Given the description of an element on the screen output the (x, y) to click on. 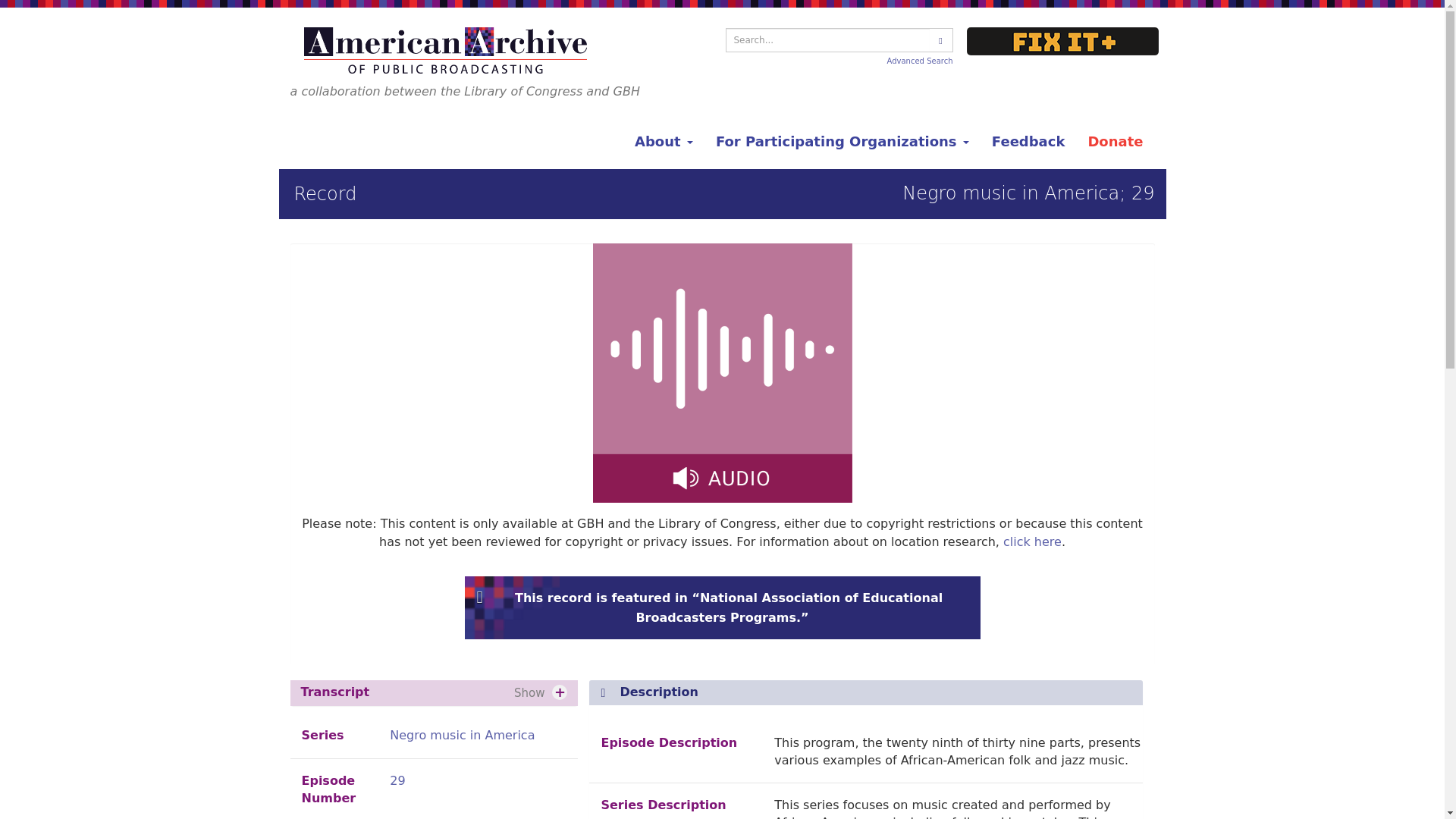
FIX IT: A TRANSCRIPT GAME (1062, 41)
Donate (1114, 141)
Feedback (1028, 141)
American Archive of Public Broadcasting (446, 50)
Advanced Search (919, 60)
For Participating Organizations (841, 141)
About (663, 141)
